Given the description of an element on the screen output the (x, y) to click on. 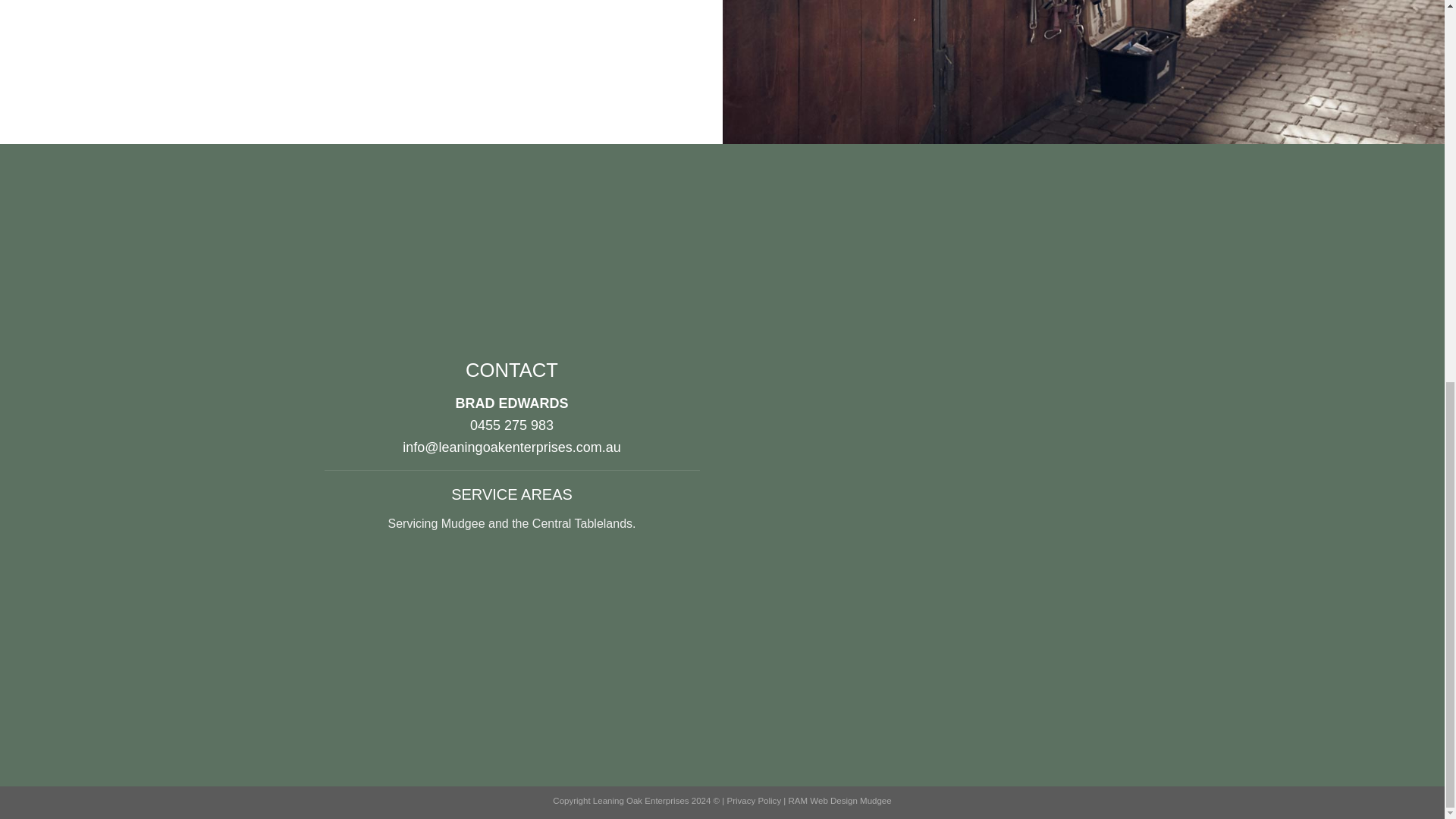
0455 275 983 (511, 425)
Privacy Policy (753, 800)
Submit (971, 599)
RAM Web Design Mudgee (840, 800)
